Given the description of an element on the screen output the (x, y) to click on. 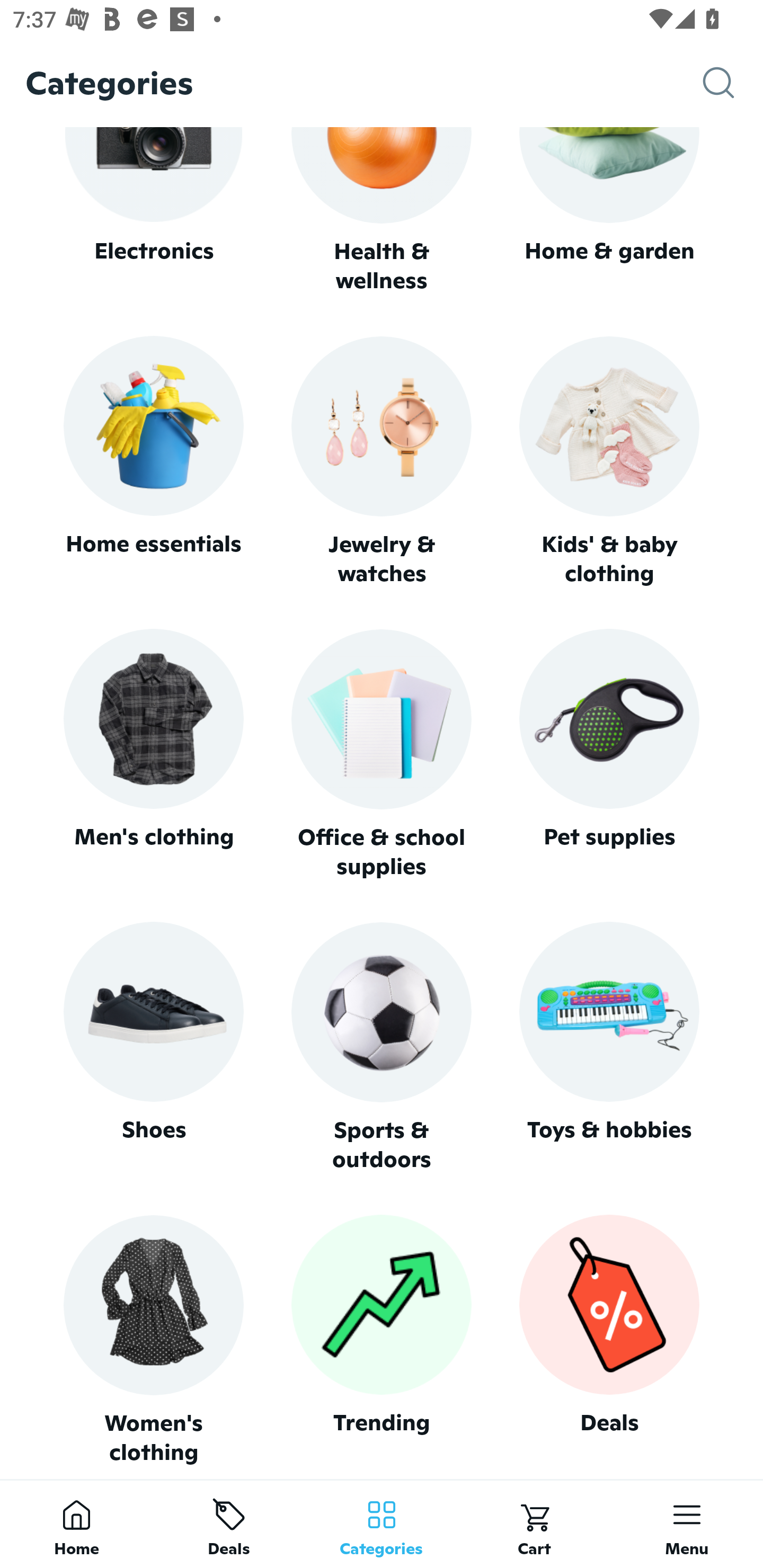
Search (732, 82)
Electronics (153, 210)
Health & wellness (381, 210)
Home & garden (609, 210)
Home essentials (153, 461)
Jewelry & watches (381, 462)
Kids' & baby clothing (609, 462)
Men's clothing (153, 753)
Pet supplies (609, 753)
Office & school supplies (381, 753)
Shoes (153, 1046)
Toys & hobbies (609, 1046)
Sports & outdoors (381, 1046)
Trending (381, 1340)
Deals (609, 1340)
Women's clothing (153, 1340)
Home (76, 1523)
Deals (228, 1523)
Categories (381, 1523)
Cart (533, 1523)
Menu (686, 1523)
